Given the description of an element on the screen output the (x, y) to click on. 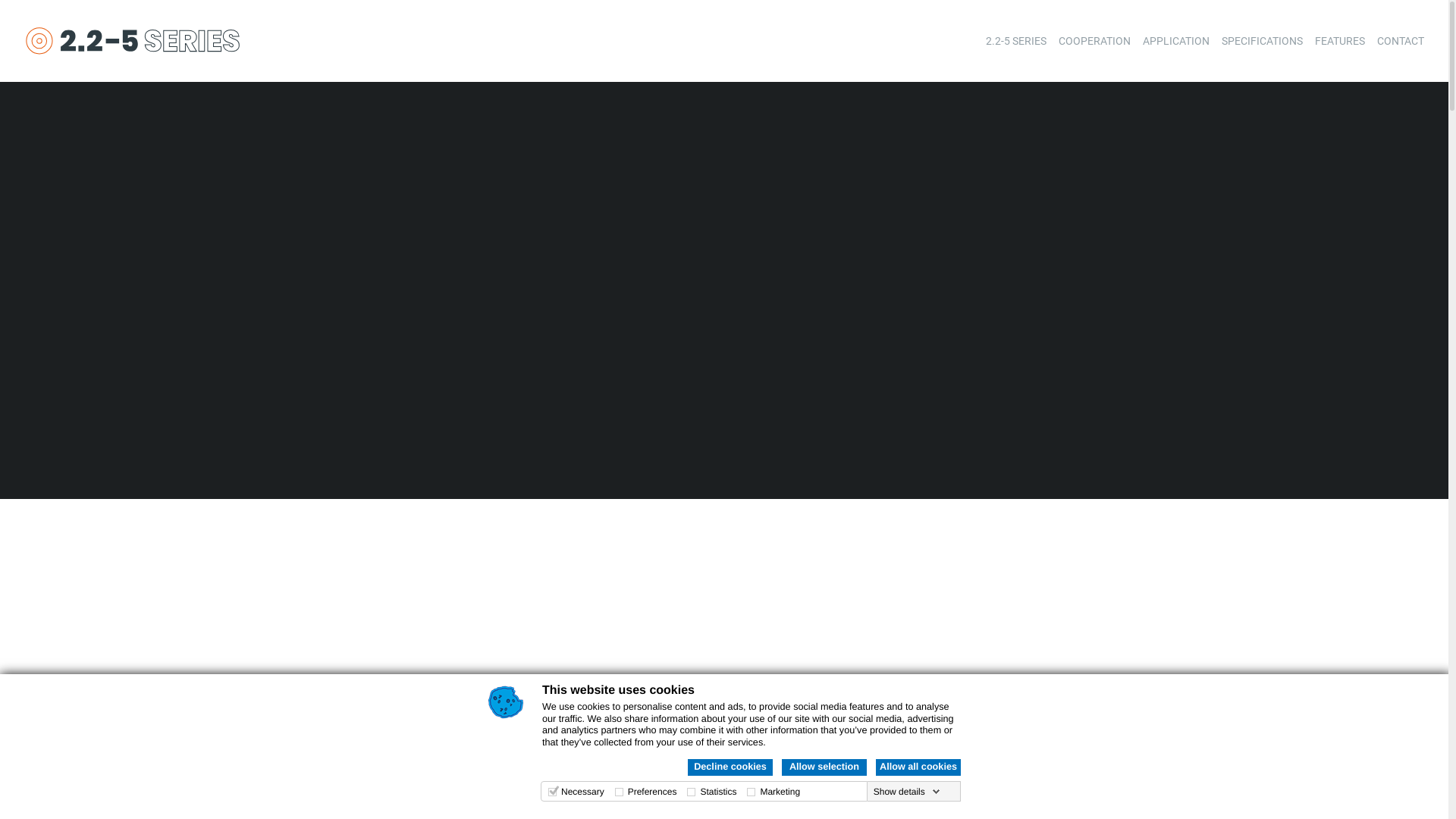
APPLICATION Element type: text (1175, 40)
CONTACT Element type: text (1400, 40)
Allow all cookies Element type: text (917, 767)
Allow selection Element type: text (823, 767)
Show details Element type: text (906, 791)
2.2-5 SERIES Element type: text (1015, 40)
Decline cookies Element type: text (729, 767)
COOPERATION Element type: text (1094, 40)
SPECIFICATIONS Element type: text (1261, 40)
FEATURES Element type: text (1339, 40)
